Given the description of an element on the screen output the (x, y) to click on. 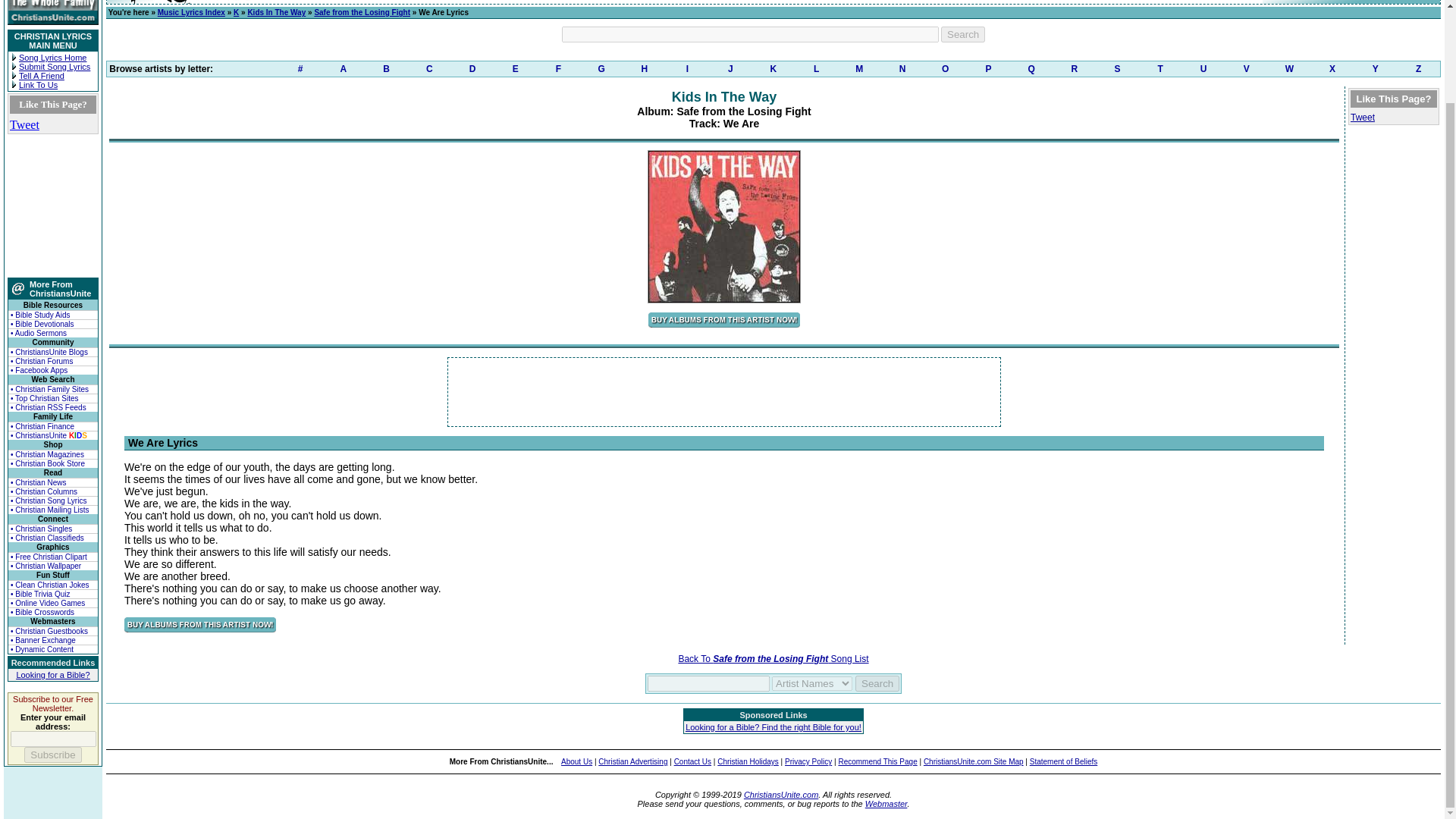
Looking for a Bible? (52, 674)
Song Lyrics Home (51, 57)
Search (877, 683)
Kids In The Way (276, 12)
Advertisement (724, 391)
Music Lyrics Index (191, 12)
Search (962, 34)
Link To Us (38, 84)
Subscribe (52, 754)
Submit Song Lyrics (54, 66)
Subscribe (52, 754)
Tell A Friend (41, 75)
Safe from the Losing Fight (362, 12)
